Given the description of an element on the screen output the (x, y) to click on. 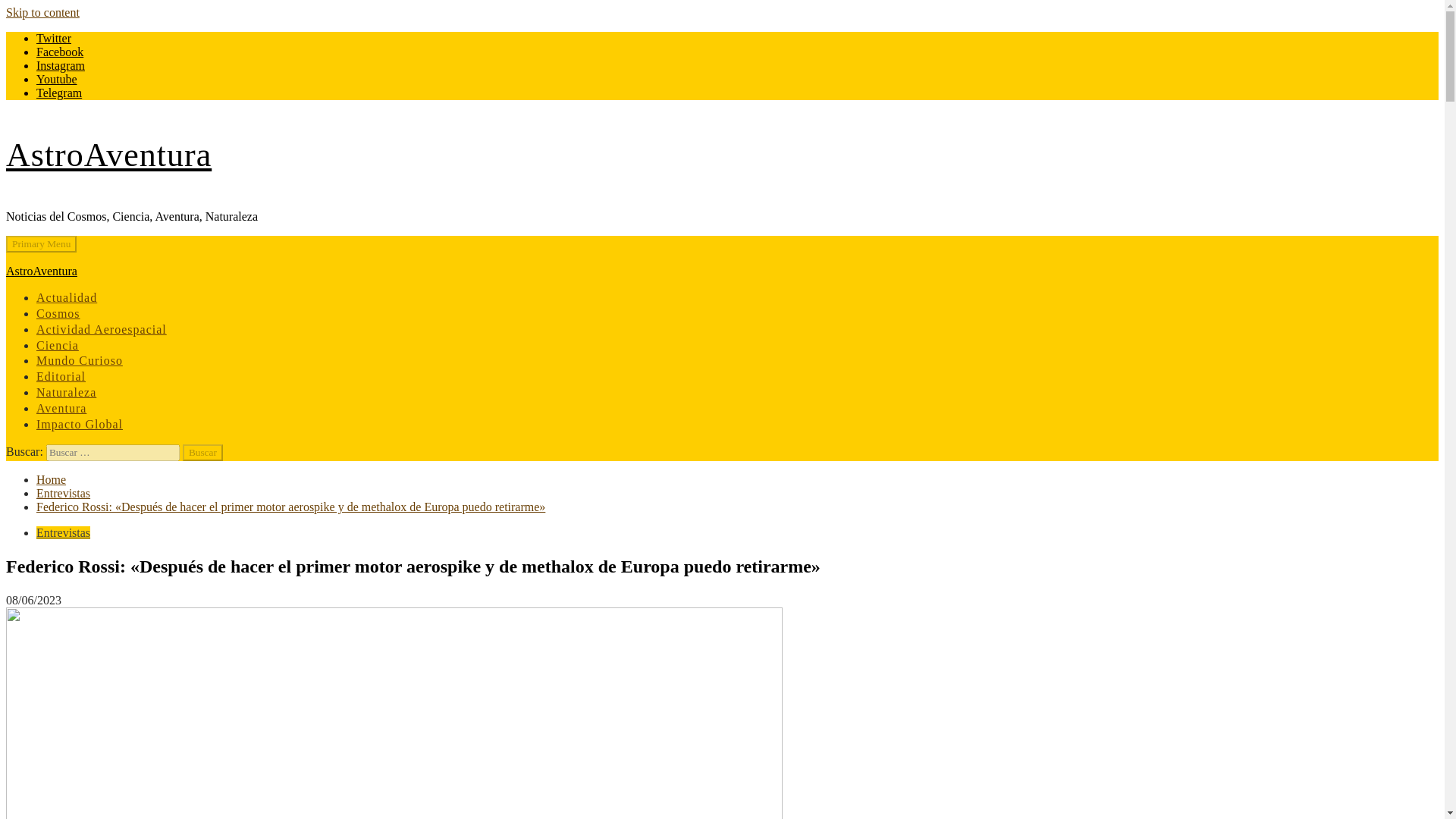
Buscar (202, 452)
Naturaleza (66, 391)
Primary Menu (41, 243)
Aventura (60, 408)
Buscar (202, 452)
Entrevistas (63, 492)
Instagram (60, 65)
Impacto Global (79, 423)
AstroAventura (41, 270)
Ciencia (57, 345)
Mundo Curioso (79, 359)
Actualidad (66, 297)
Editorial (60, 376)
Entrevistas (63, 532)
Cosmos (58, 313)
